Given the description of an element on the screen output the (x, y) to click on. 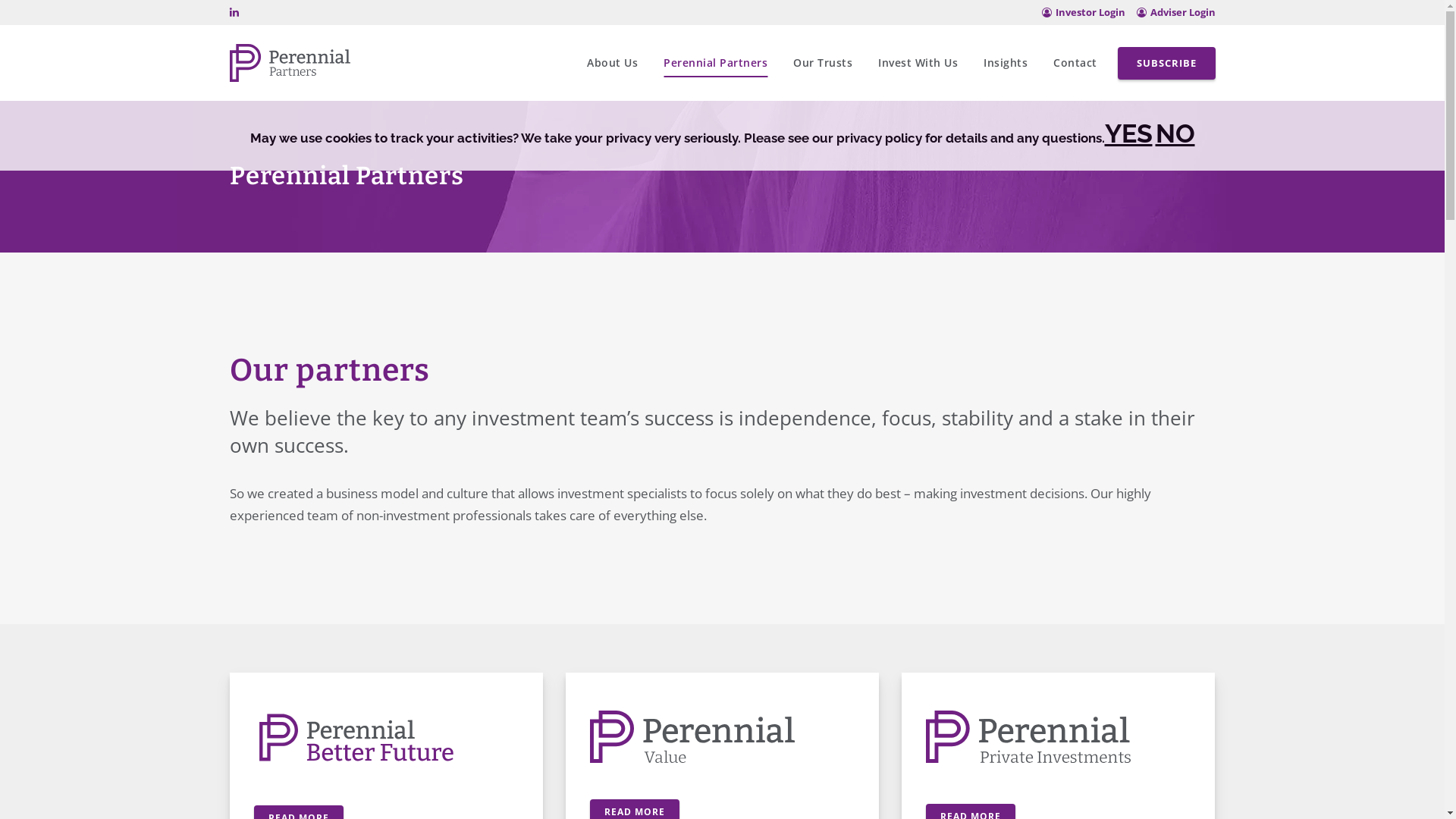
Investor Login Element type: text (1083, 11)
PP-Private-Investments-Logo Element type: hover (1027, 736)
Adviser Login Element type: text (1174, 11)
YES Element type: text (1127, 133)
NO Element type: text (1175, 133)
SUBSCRIBE Element type: text (1166, 63)
Our Trusts Element type: text (822, 62)
Invest With Us Element type: text (917, 62)
Insights Element type: text (1005, 62)
Perennial Partners Element type: text (715, 62)
PP-Larger-Companies-Logo Element type: hover (691, 736)
Contact Element type: text (1075, 62)
About Us Element type: text (612, 62)
PP-Better-Future-Logo Element type: hover (355, 736)
